Given the description of an element on the screen output the (x, y) to click on. 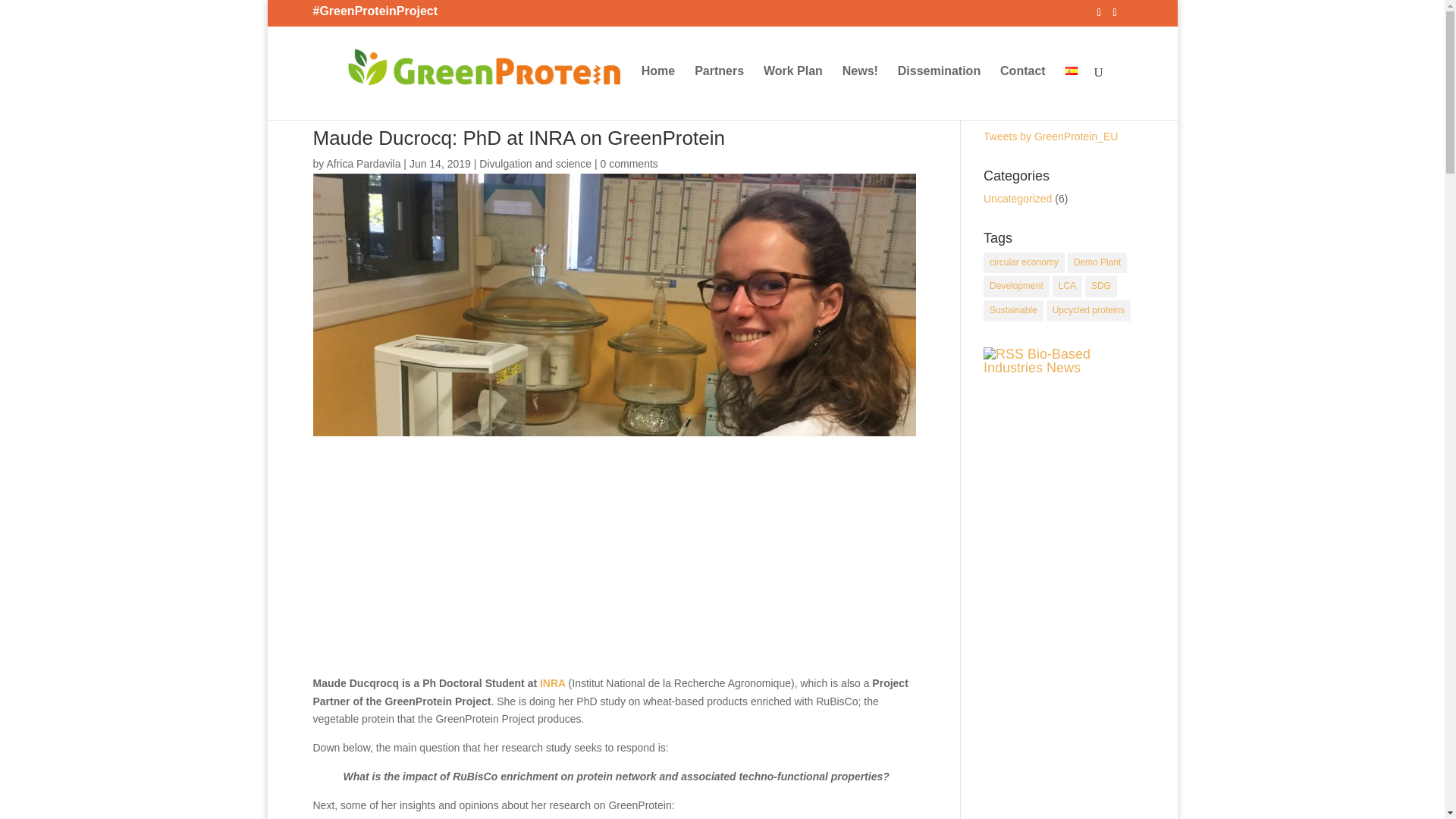
0 comments (628, 163)
Work Plan (792, 92)
INRA (553, 683)
Africa Pardavila (363, 163)
Posts by Africa Pardavila (363, 163)
Partners (719, 92)
Divulgation and science (535, 163)
Dissemination (938, 92)
